Given the description of an element on the screen output the (x, y) to click on. 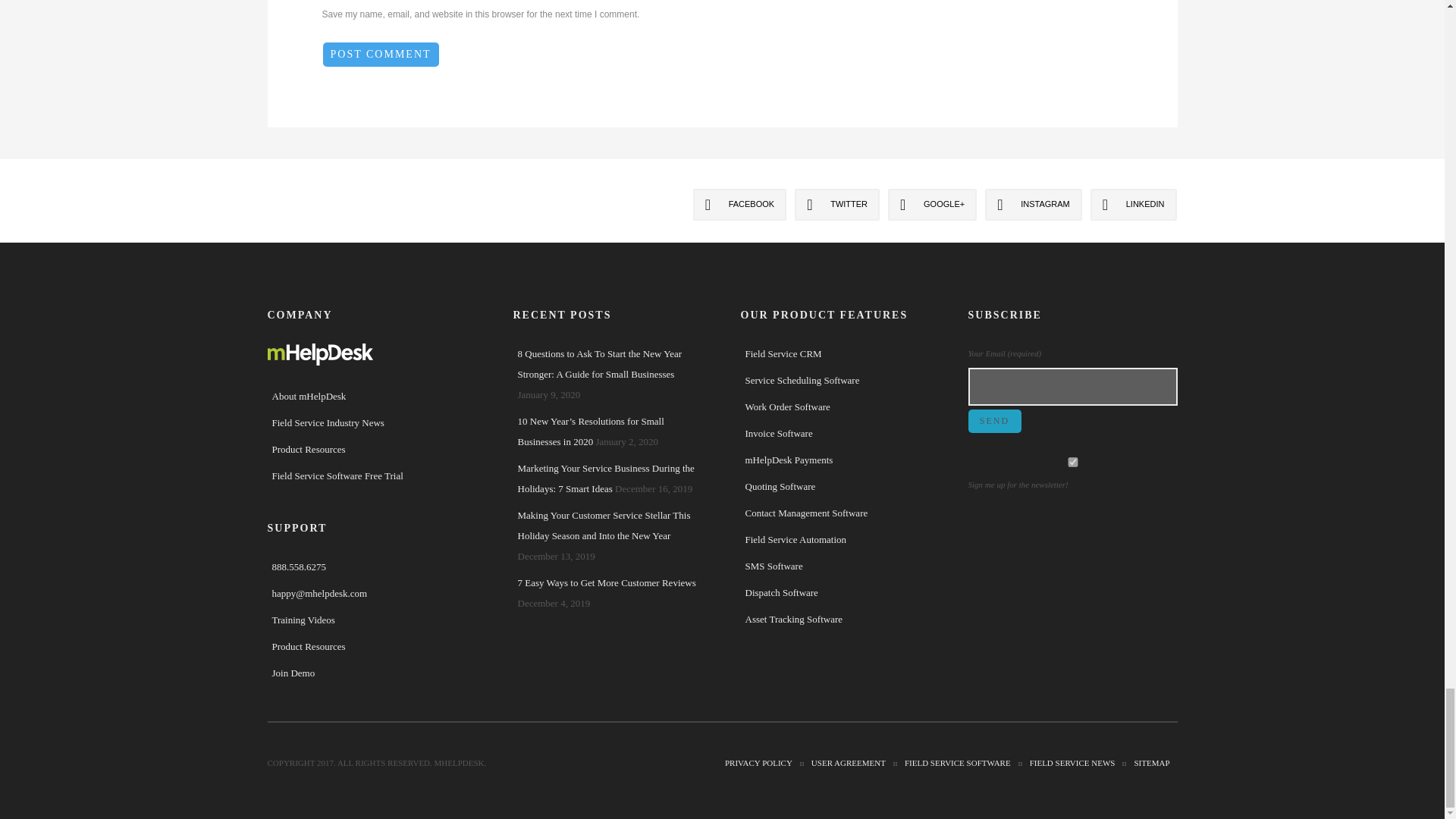
Twitter (836, 204)
Send (994, 421)
Post Comment (381, 54)
Instagram (1033, 204)
Facebook (740, 204)
LinkedIn (1133, 204)
1 (1072, 461)
